Given the description of an element on the screen output the (x, y) to click on. 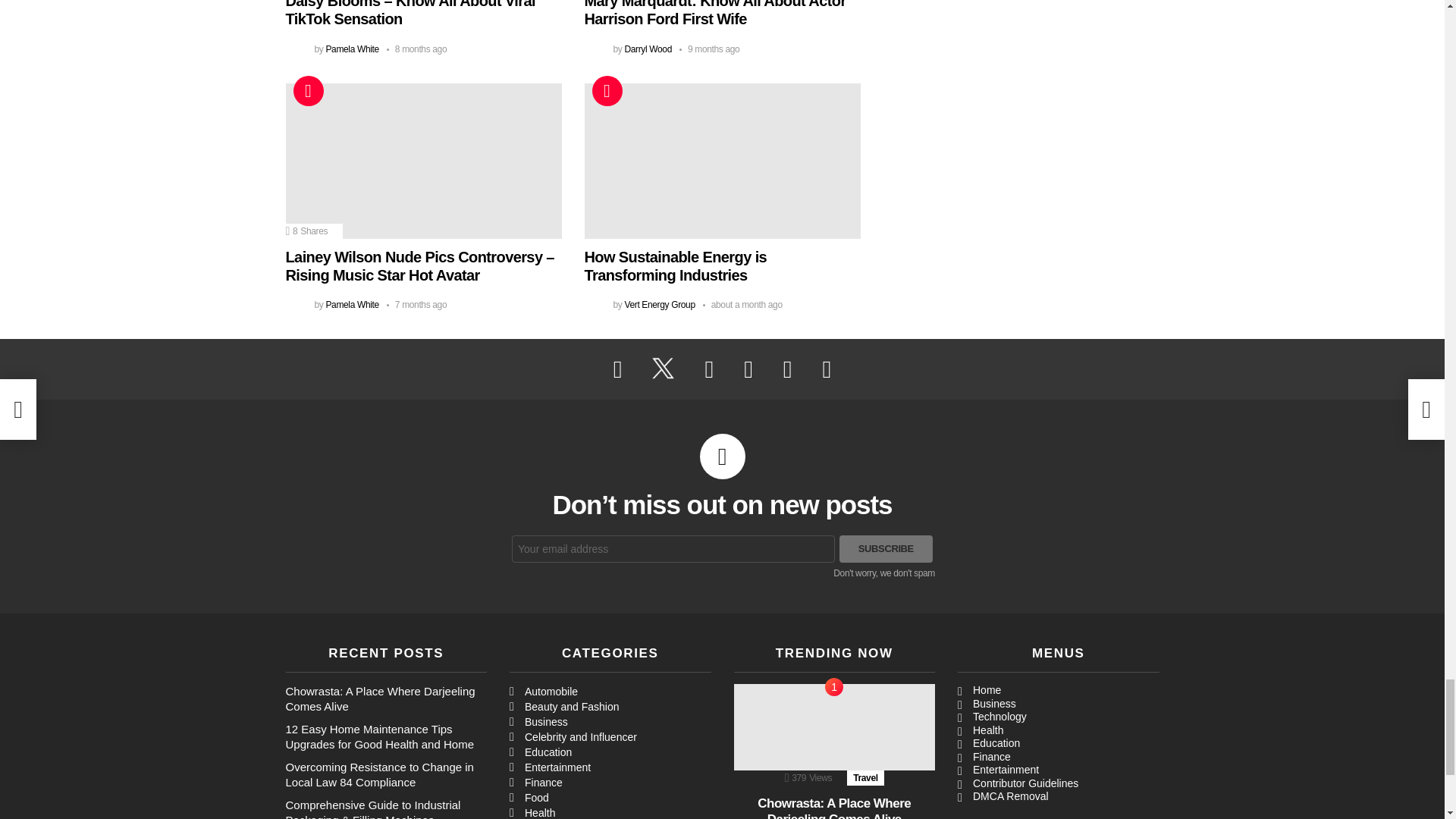
Subscribe (886, 548)
